Given the description of an element on the screen output the (x, y) to click on. 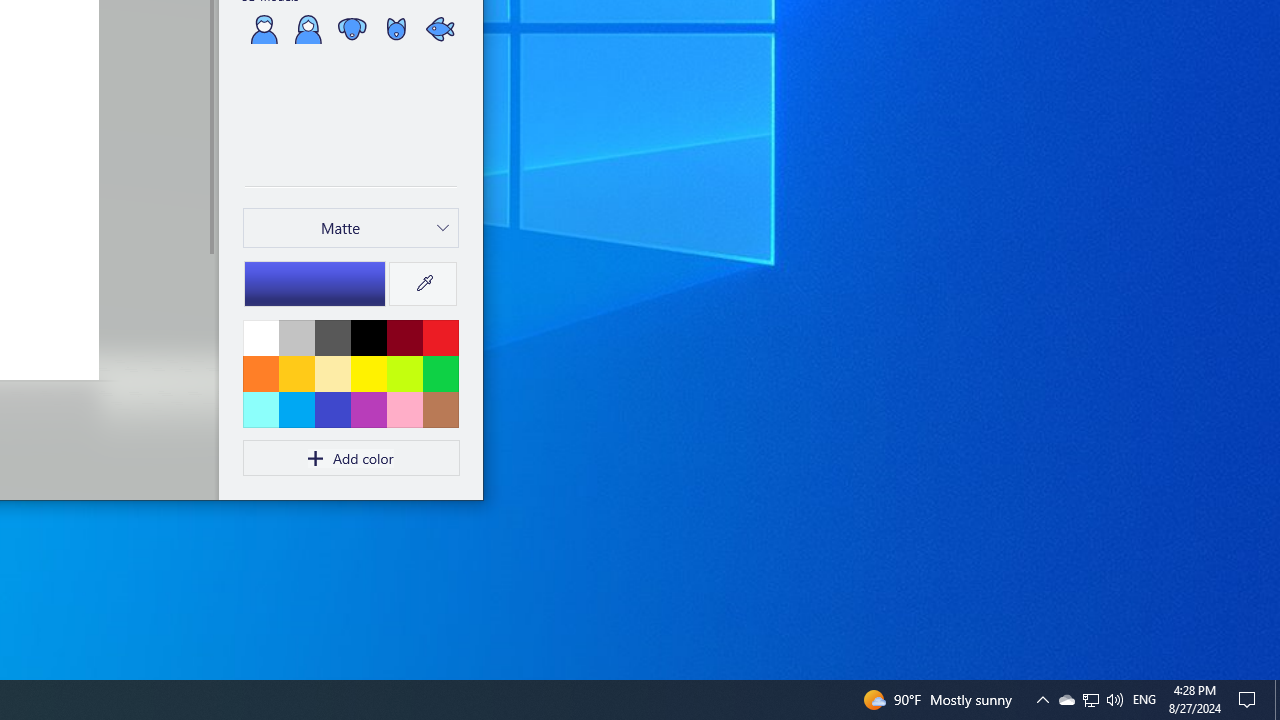
Turquoise (296, 409)
Lime (404, 373)
Woman (307, 28)
Dog (351, 28)
Yellow (368, 373)
Gold (296, 373)
Indigo (332, 409)
Brown (440, 409)
Green (440, 373)
Red (440, 337)
